Given the description of an element on the screen output the (x, y) to click on. 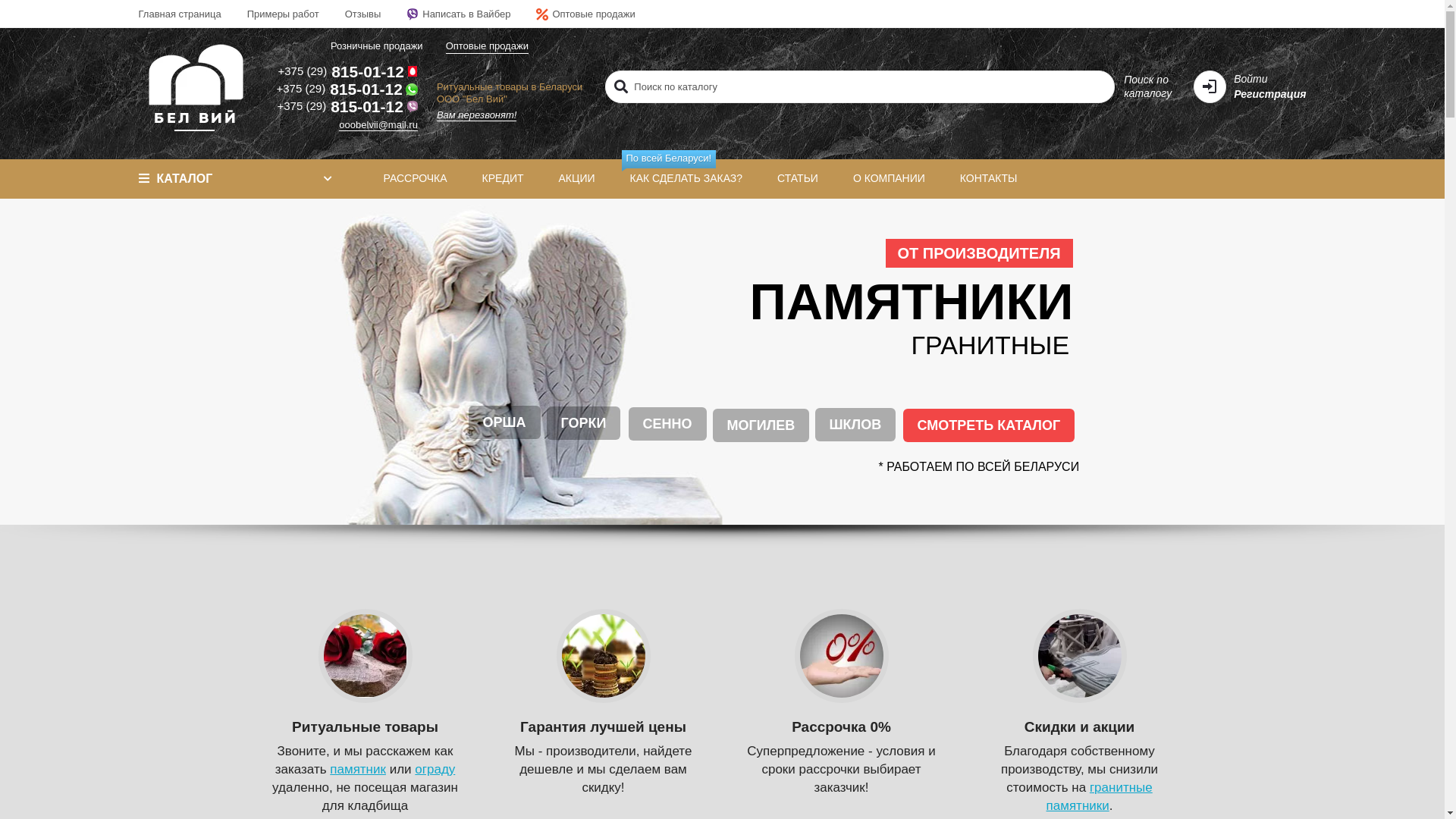
+375 (29)
815-01-12 Element type: text (346, 71)
+375 (29)
815-01-12 Element type: text (346, 88)
ooobelvii@mail.ru Element type: text (377, 125)
+375 (29)
815-01-12 Element type: text (346, 106)
